Given the description of an element on the screen output the (x, y) to click on. 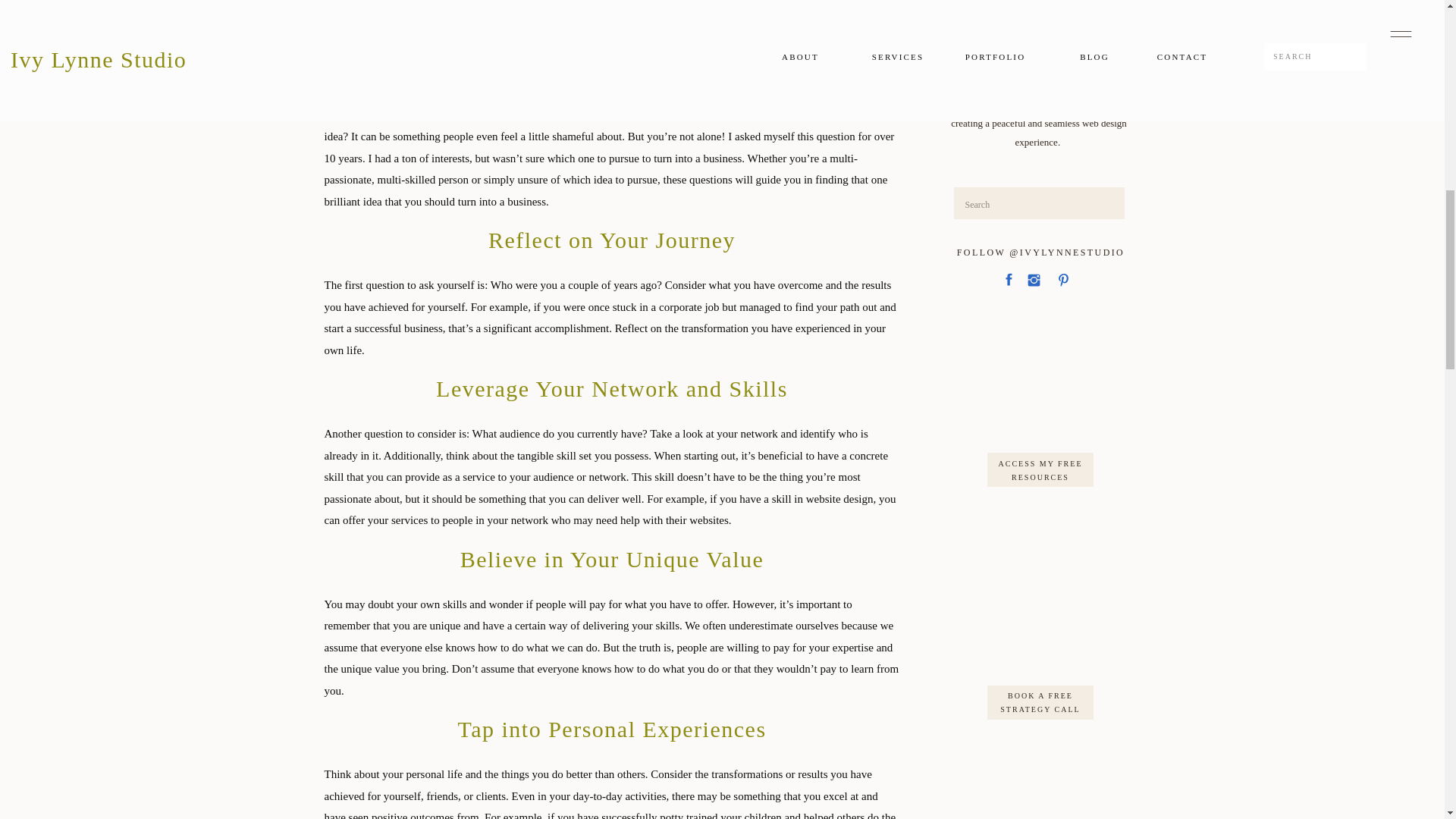
How to Find Your Business Idea (611, 46)
BOOK A FREE STRATEGY CALL (1039, 700)
ACCESS MY FREE RESOURCES (1039, 468)
